Given the description of an element on the screen output the (x, y) to click on. 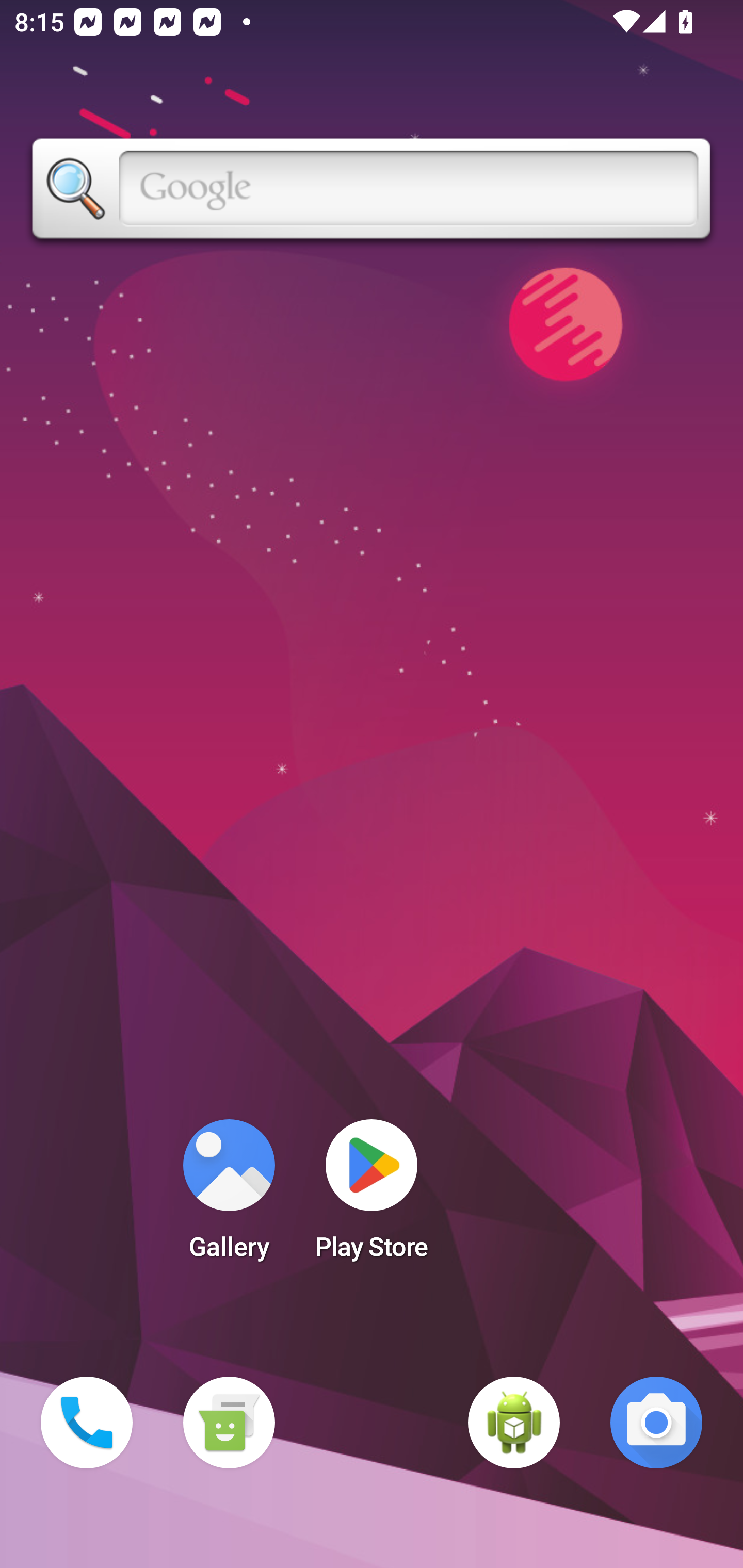
Gallery (228, 1195)
Play Store (371, 1195)
Phone (86, 1422)
Messaging (228, 1422)
WebView Browser Tester (513, 1422)
Camera (656, 1422)
